Given the description of an element on the screen output the (x, y) to click on. 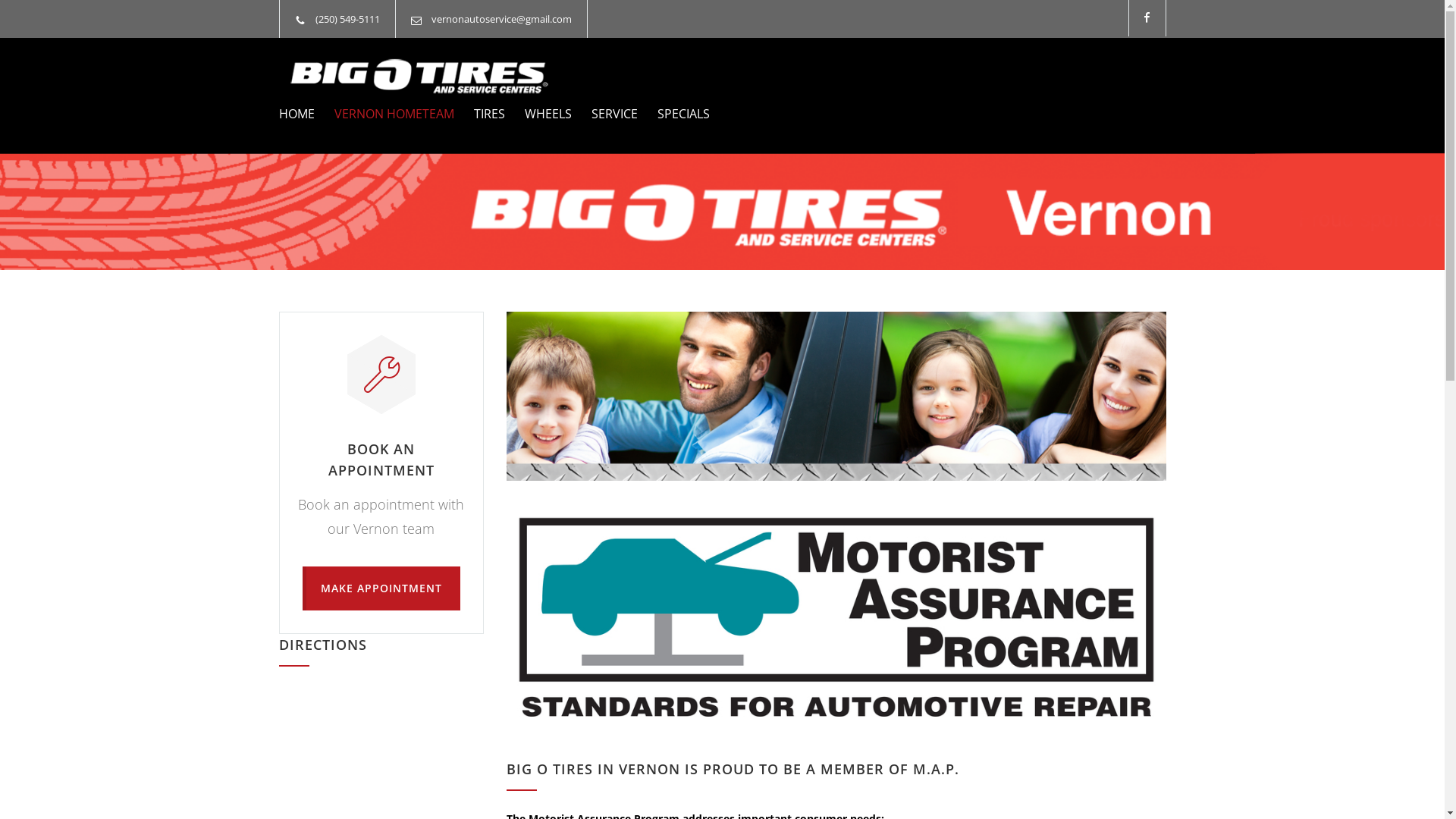
MAKE APPOINTMENT Element type: text (380, 588)
HOME Element type: text (296, 113)
vernonautoservice@gmail.com Element type: text (500, 18)
VERNON HOMETEAM Element type: text (383, 113)
SERVICE Element type: text (604, 113)
TIRES Element type: text (478, 113)
Big O Tires Vernon Element type: hover (419, 75)
SPECIALS Element type: text (673, 113)
WHEELS Element type: text (538, 113)
